Given the description of an element on the screen output the (x, y) to click on. 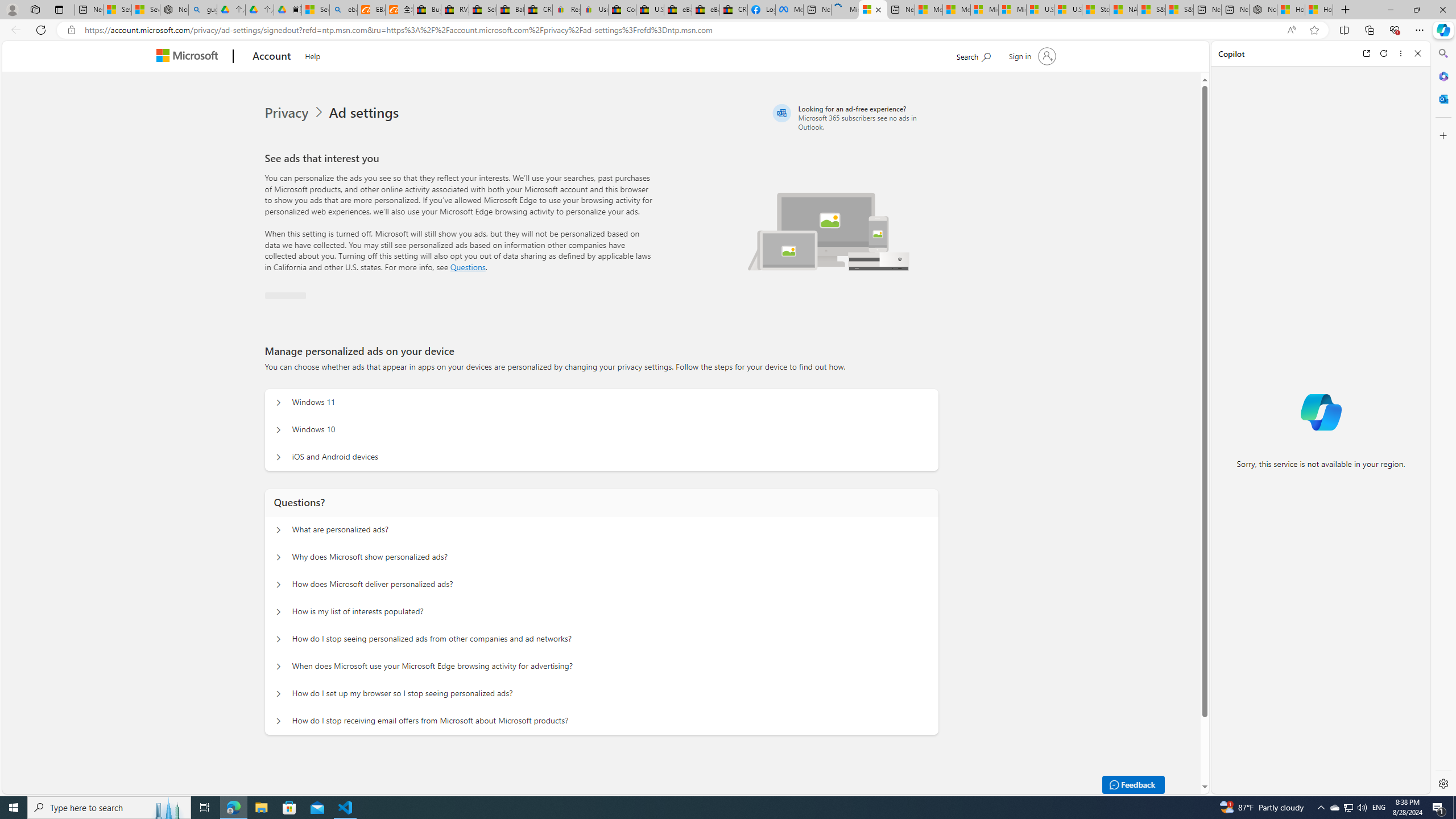
guge yunpan - Search (202, 9)
Manage personalized ads on your device Windows 11 (278, 402)
Search Microsoft.com (972, 54)
Outlook (1442, 98)
Log into Facebook (761, 9)
